Given the description of an element on the screen output the (x, y) to click on. 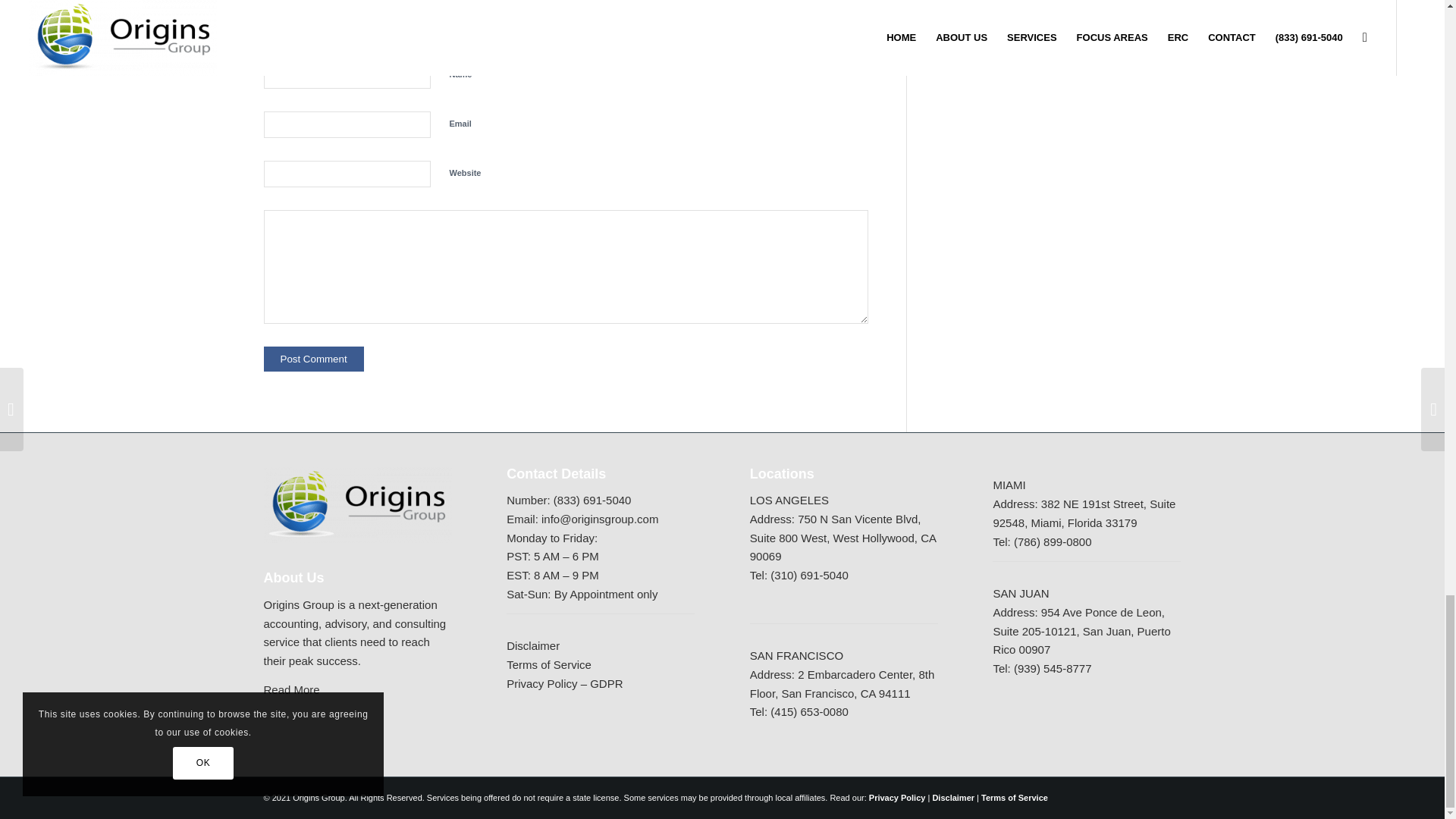
Post Comment (313, 358)
Post Comment (313, 358)
